Given the description of an element on the screen output the (x, y) to click on. 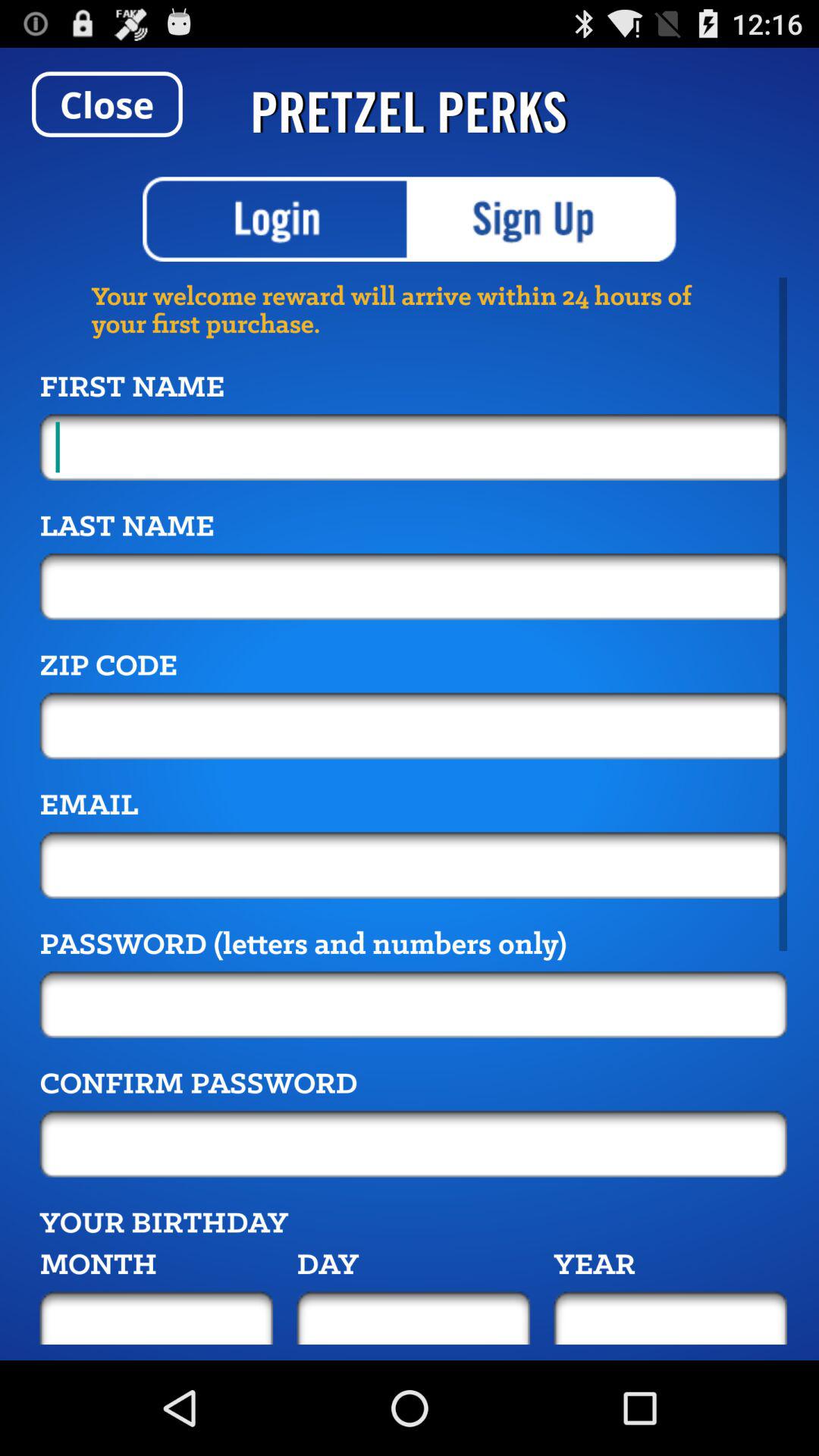
enter your last name (413, 586)
